Given the description of an element on the screen output the (x, y) to click on. 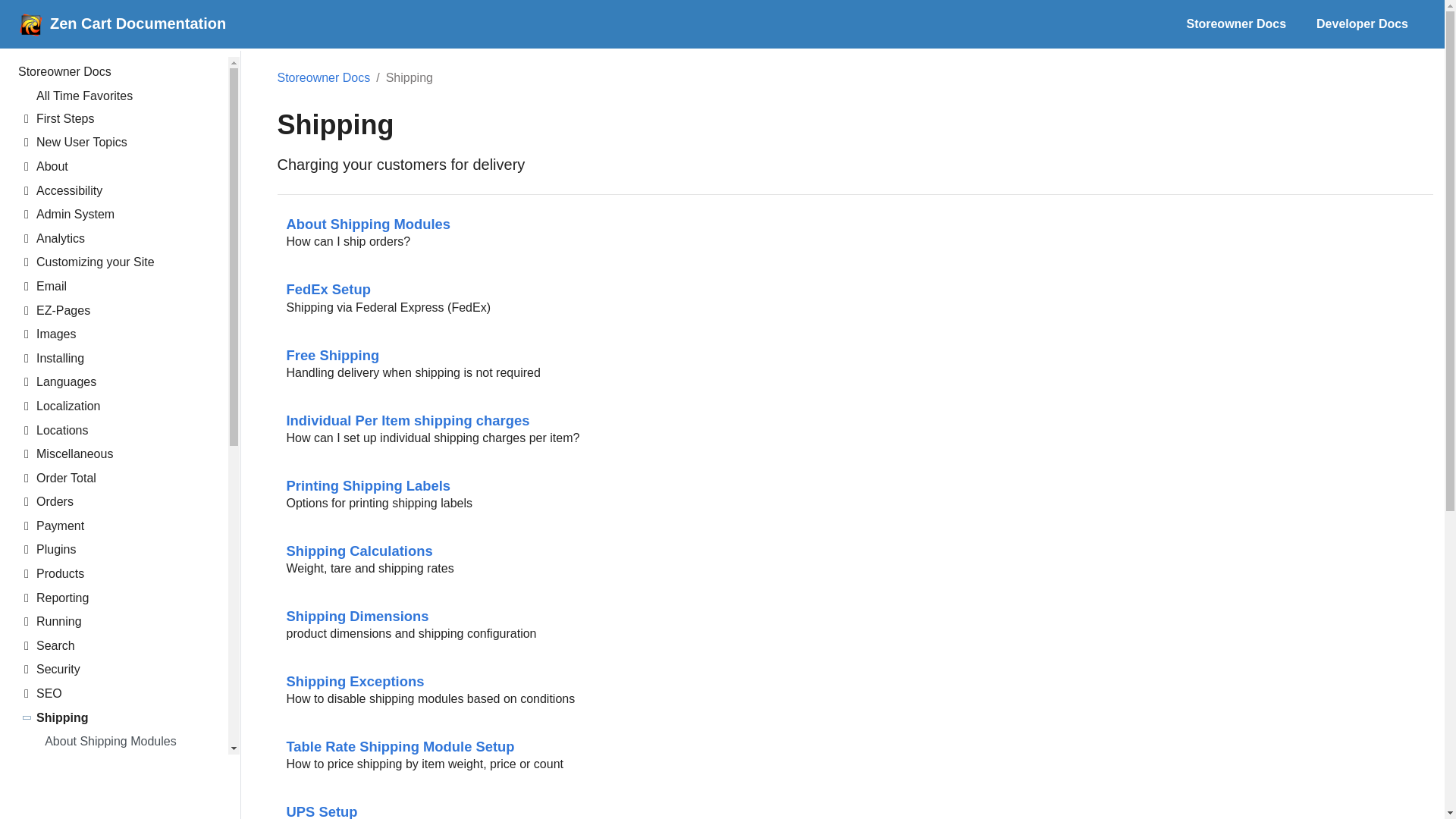
Zen Cart Documentation (118, 24)
Zen Cart Storeowner Docs (113, 74)
New User Topics (1305, 24)
First Steps (122, 144)
Storeowner Docs (122, 120)
All Time Favorites (1235, 24)
Developer Docs (122, 97)
Storeowner Docs (1361, 24)
